Given the description of an element on the screen output the (x, y) to click on. 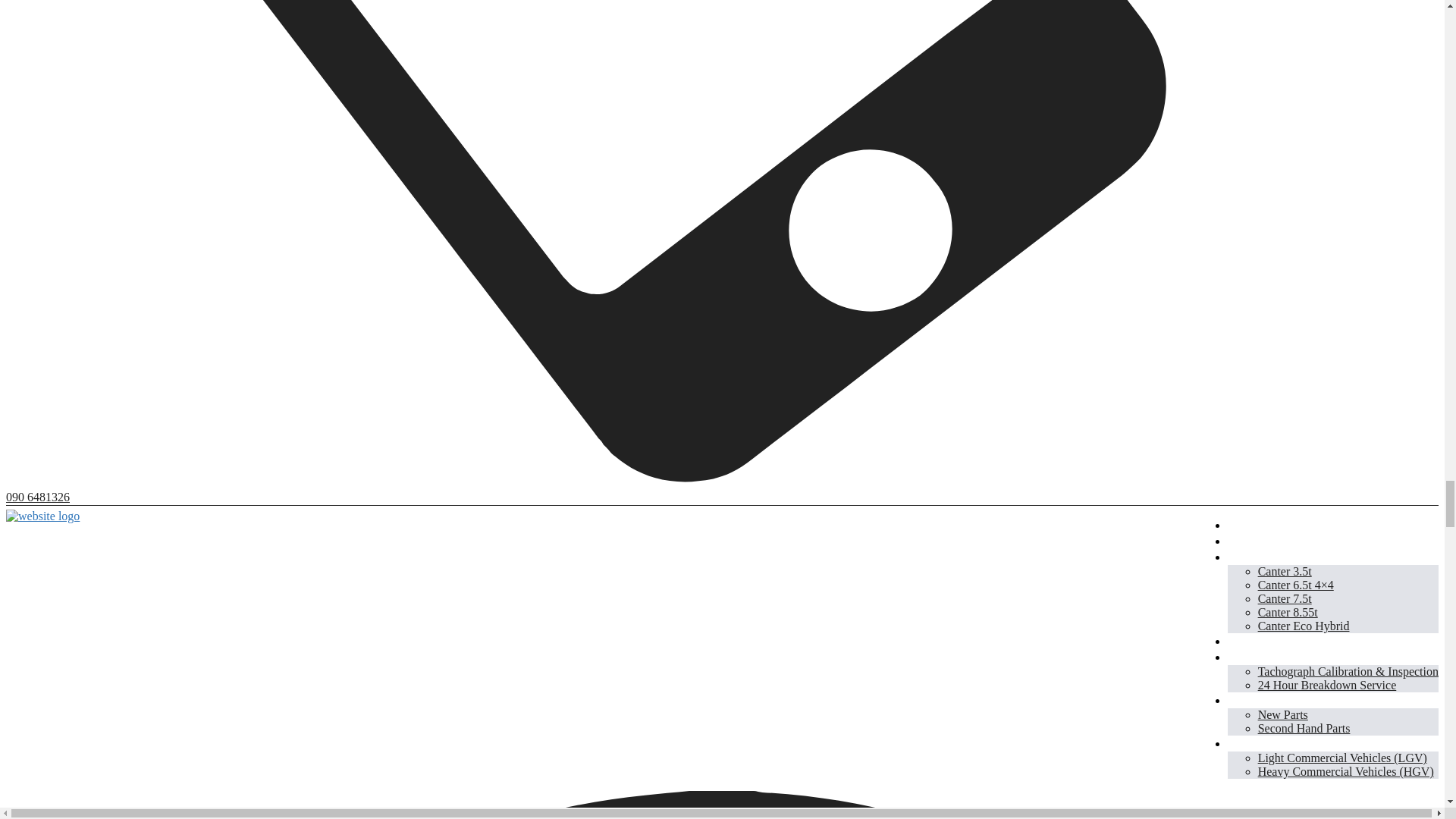
Canter 7.5t (1284, 598)
24 Hour Breakdown Service (1326, 684)
Mercedes-Benz (1270, 540)
Canter 3.5t (1284, 571)
New Parts (1282, 714)
090 6481326 (37, 496)
Second Hand Parts (1304, 727)
Parts (1241, 699)
Home (1243, 524)
Used Vehicles (1265, 640)
